Given the description of an element on the screen output the (x, y) to click on. 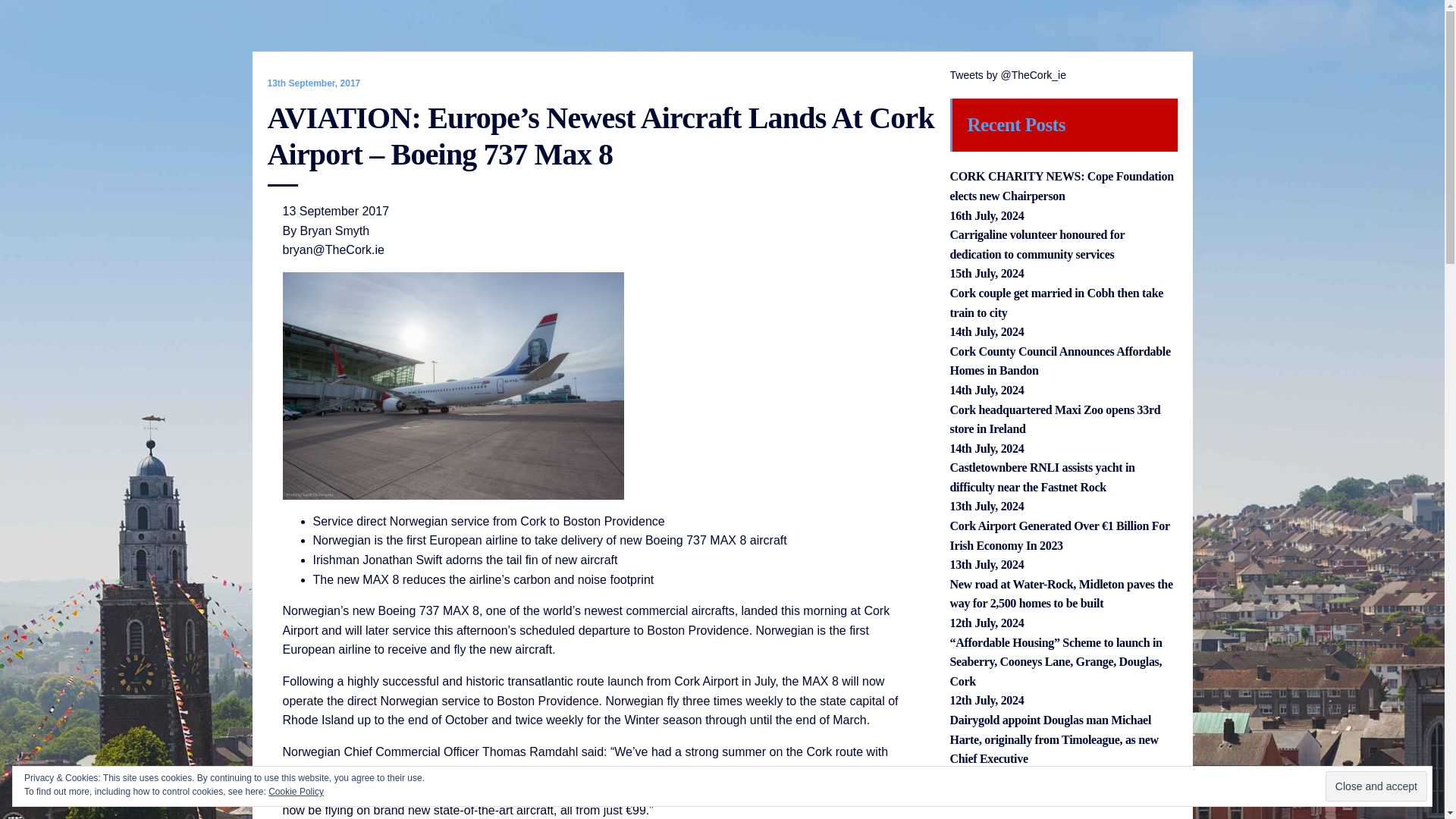
Close and accept (1375, 786)
